Given the description of an element on the screen output the (x, y) to click on. 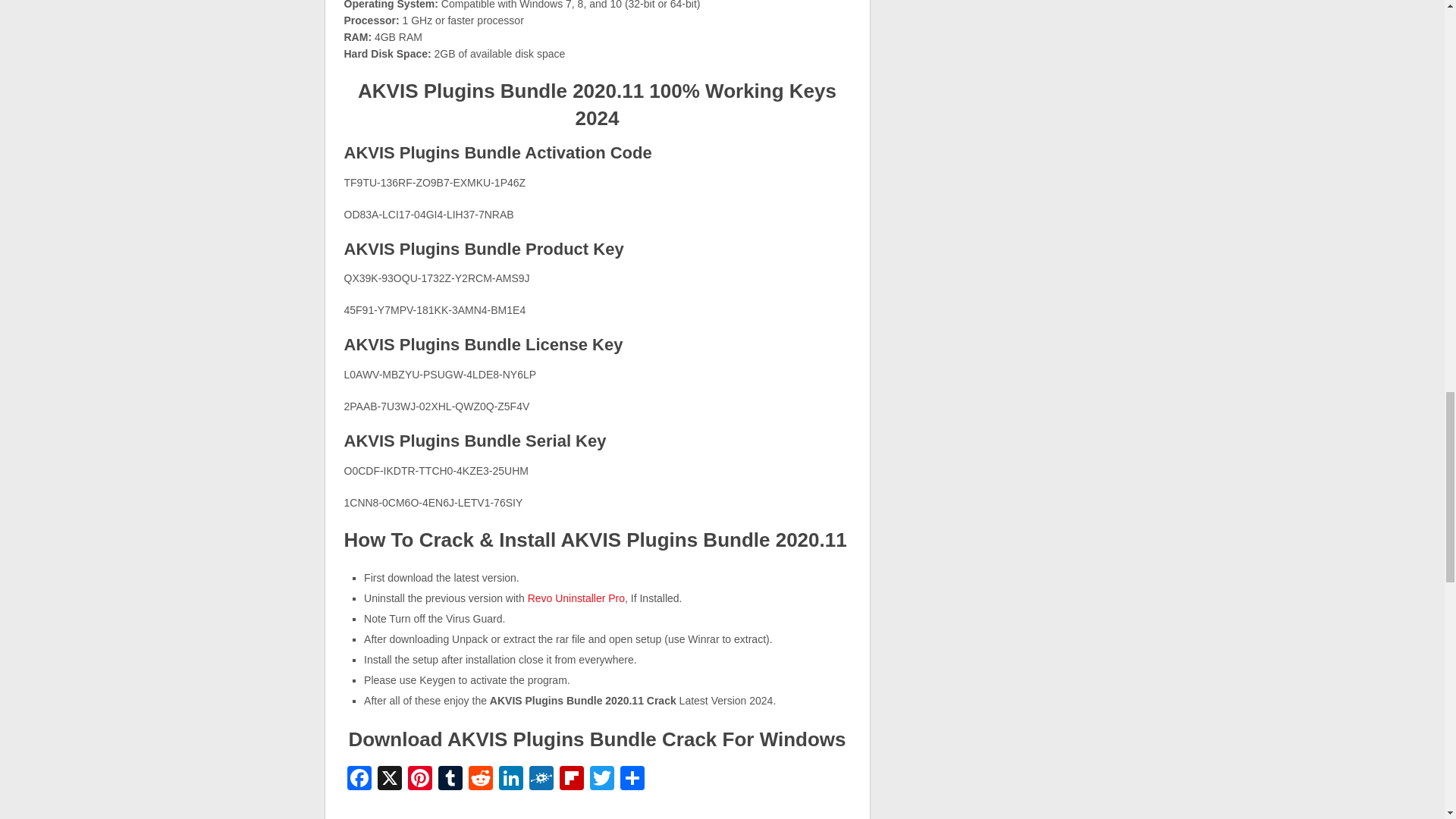
Flipboard (571, 779)
Share (632, 779)
LinkedIn (510, 779)
Twitter (601, 779)
Reddit (480, 779)
Revo Uninstaller Pro (575, 598)
Pinterest (419, 779)
Folkd (540, 779)
Tumblr (450, 779)
X (389, 779)
Facebook (358, 779)
Facebook (358, 779)
Reddit (480, 779)
Folkd (540, 779)
Flipboard (571, 779)
